Given the description of an element on the screen output the (x, y) to click on. 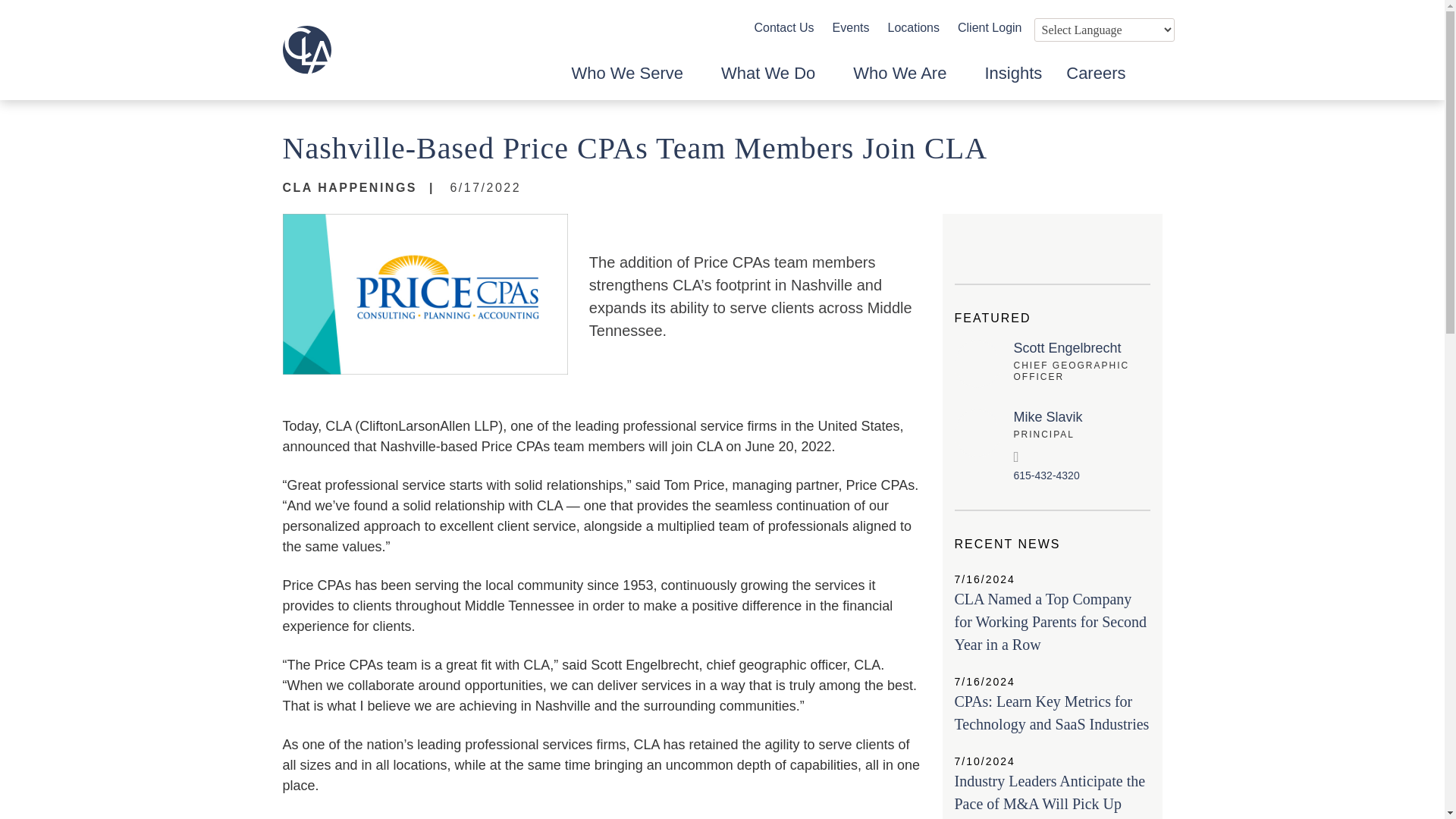
Scott Engelbrecht (1067, 347)
Events (850, 27)
Contact Us (783, 27)
What We Do (774, 80)
Client Login (990, 27)
Insights (1013, 80)
Who We Are (906, 80)
Who We Serve (633, 80)
Locations (912, 27)
Careers (1095, 80)
